Given the description of an element on the screen output the (x, y) to click on. 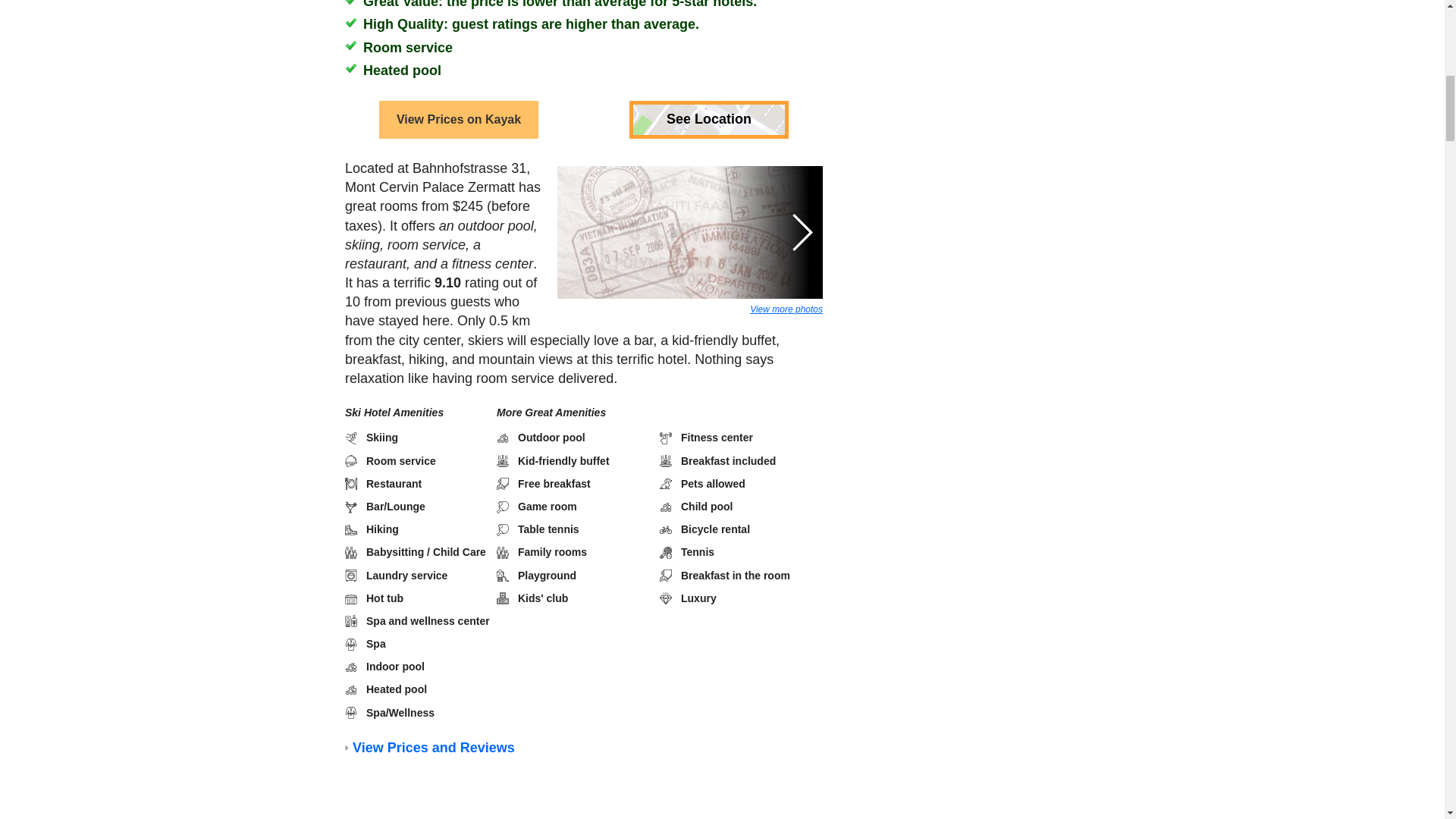
View more photos (785, 308)
See Location (708, 119)
View Prices on Kayak (458, 119)
Resort Hotel Alex Zermatt (482, 816)
View Prices and Reviews (432, 747)
